Given the description of an element on the screen output the (x, y) to click on. 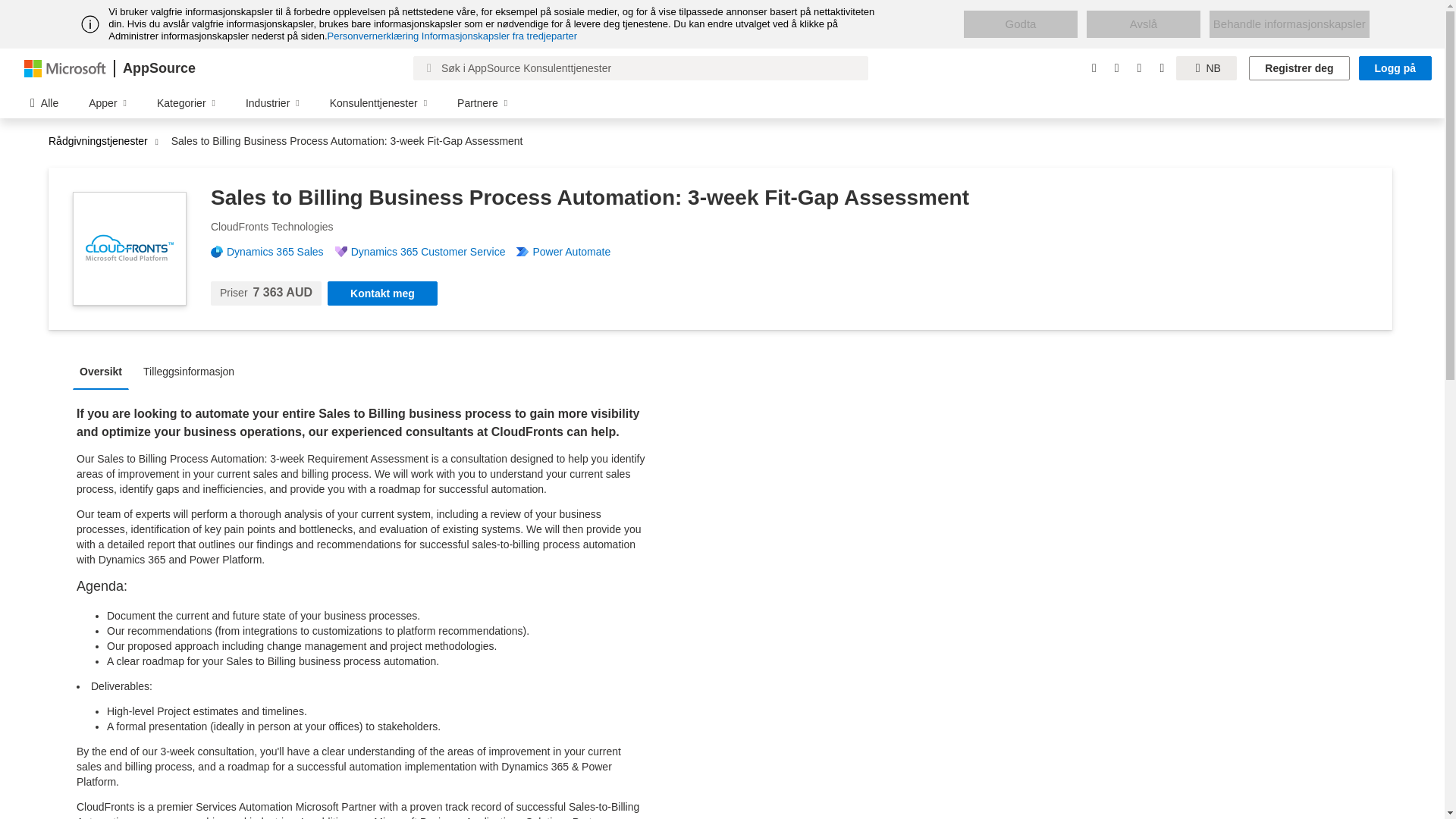
Registrer deg (1299, 68)
Oversikt (104, 370)
Tilleggsinformasjon (192, 370)
Dynamics 365 Customer Service (433, 251)
Behandle informasjonskapsler (1289, 23)
Microsoft (65, 67)
Power Automate (576, 251)
Dynamics 365 Sales (280, 251)
Dynamics 365 Customer Service (433, 251)
Informasjonskapsler fra tredjeparter (499, 35)
AppSource (158, 67)
Dynamics 365 Sales (280, 251)
Godta (1020, 23)
Kontakt meg (382, 293)
Power Automate (576, 251)
